Given the description of an element on the screen output the (x, y) to click on. 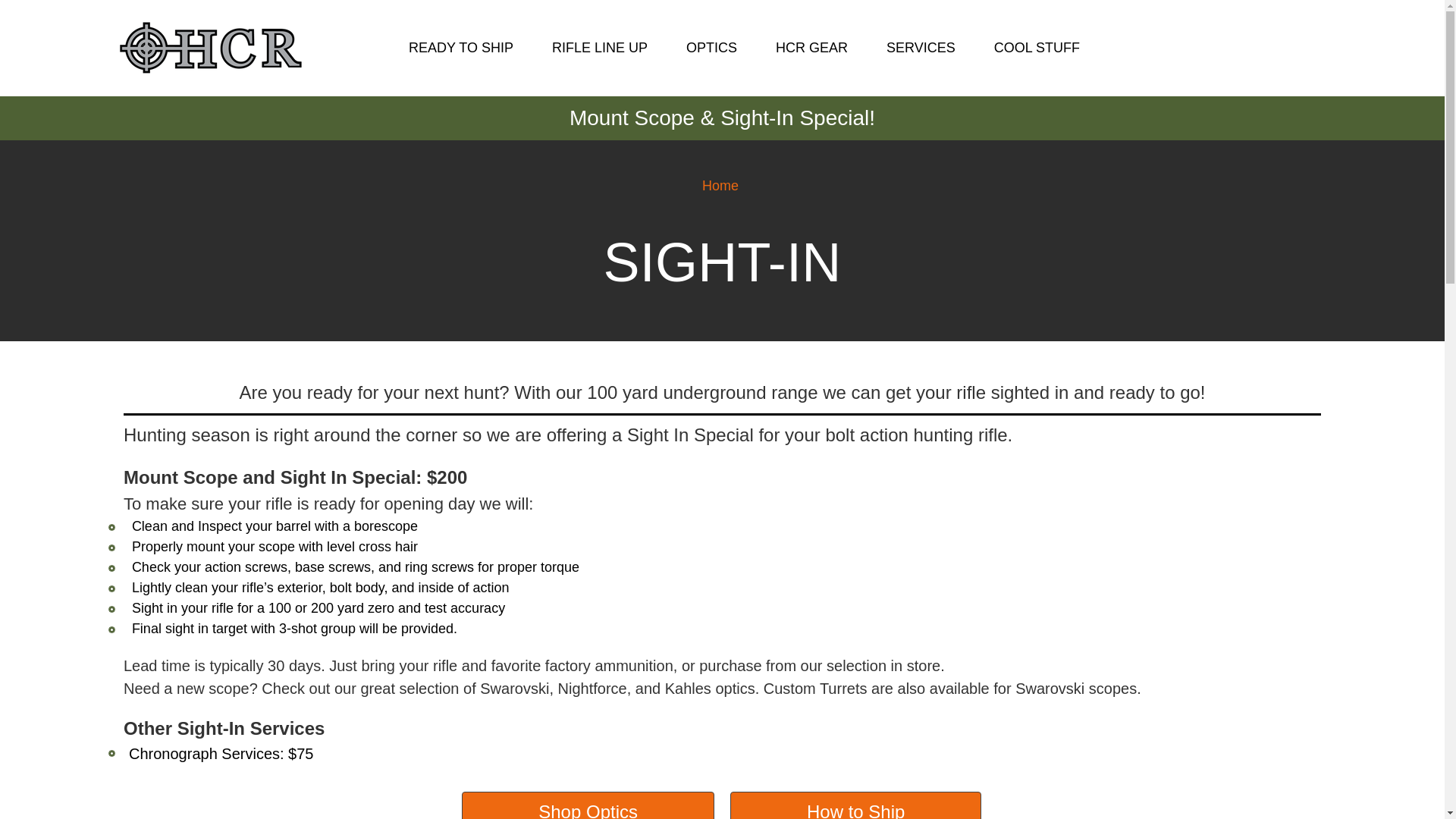
HCR GEAR (820, 47)
READY TO SHIP (470, 47)
User Account (1269, 46)
RIFLE LINE UP (608, 47)
OPTICS (719, 47)
Hill Country Rifles (209, 47)
